Given the description of an element on the screen output the (x, y) to click on. 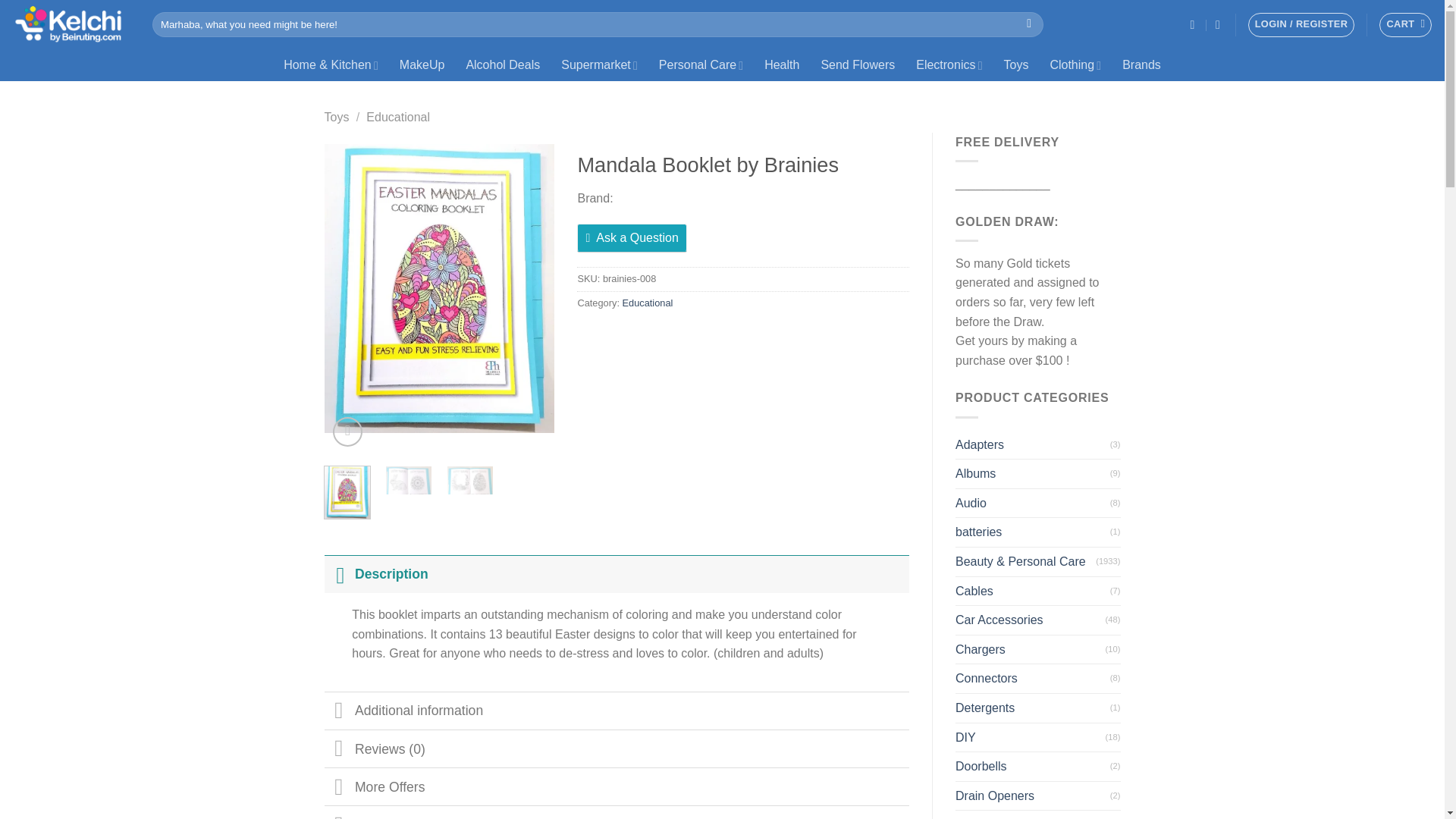
Zoom (347, 431)
Login (1301, 24)
Alcohol Deals (502, 65)
CART (1404, 24)
Personal Care (700, 65)
Cart (1404, 24)
Search (1029, 24)
Supermarket (598, 65)
MakeUp (421, 65)
